Given the description of an element on the screen output the (x, y) to click on. 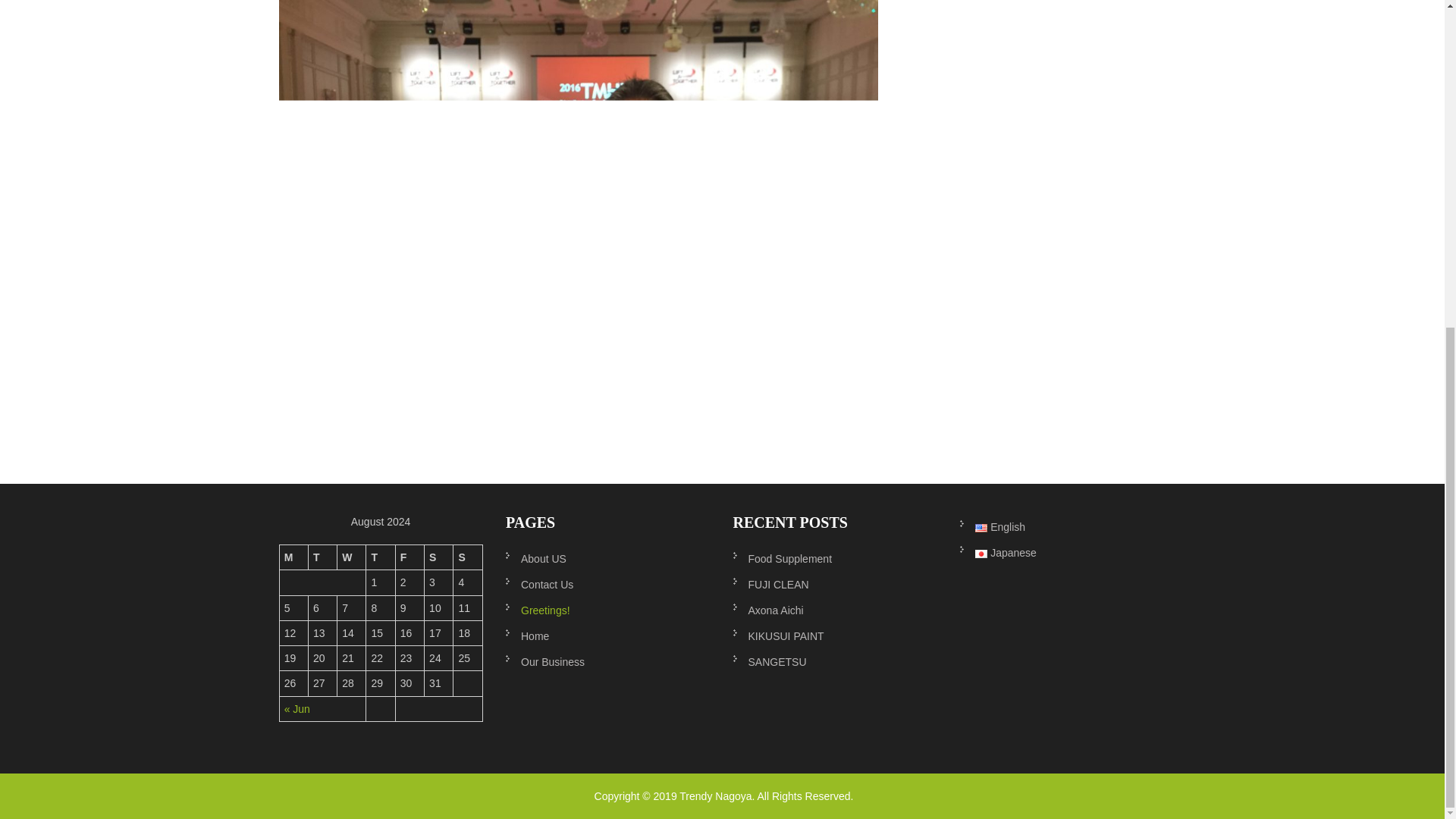
Sunday (466, 557)
FUJI CLEAN (834, 584)
Axona Aichi (834, 610)
KIKUSUI PAINT (834, 636)
Friday (410, 557)
About US (607, 558)
Home (607, 636)
Greetings! (607, 610)
Tuesday (322, 557)
Monday (293, 557)
Japanese (1061, 552)
Our Business (607, 661)
SANGETSU (834, 661)
Contact Us (607, 584)
Thursday (380, 557)
